Given the description of an element on the screen output the (x, y) to click on. 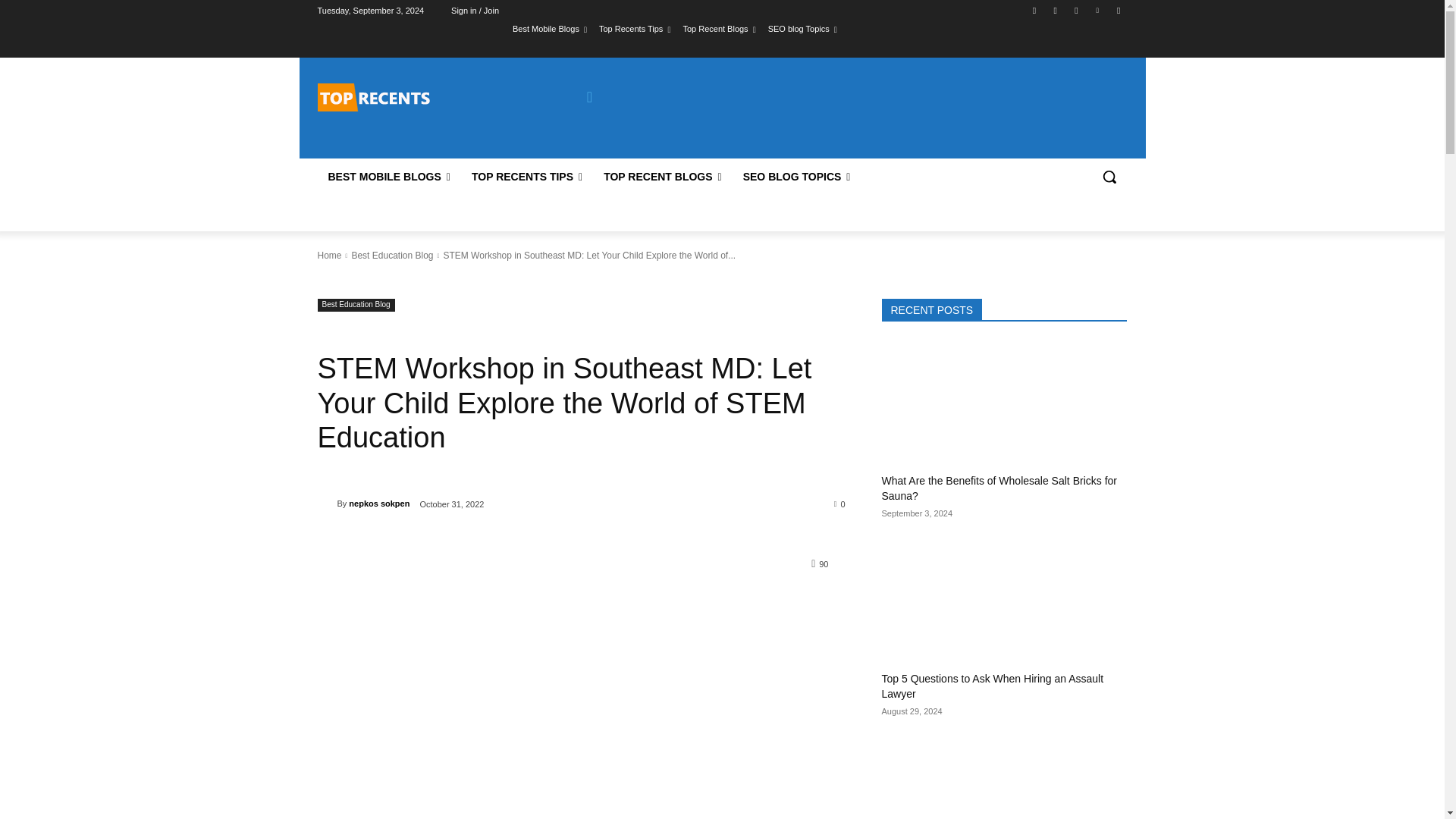
nepkos sokpen (326, 503)
Youtube (1117, 9)
Vimeo (1097, 9)
Top Recents  (425, 97)
Twitter (1075, 9)
Facebook (1034, 9)
View all posts in Best Education Blog (391, 255)
Instagram (1055, 9)
Top Recents  (373, 97)
